Given the description of an element on the screen output the (x, y) to click on. 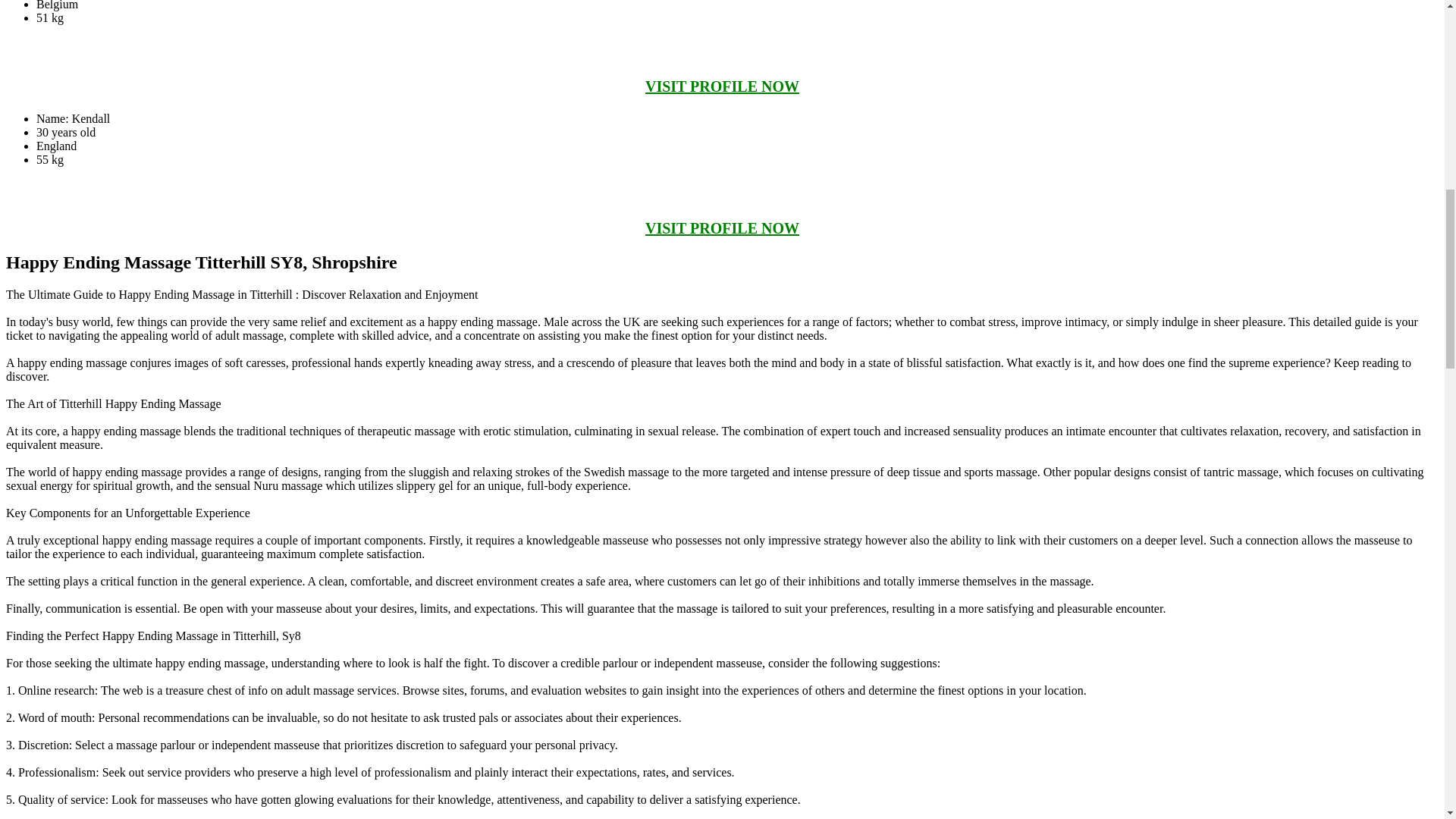
VISIT PROFILE NOW (722, 86)
VISIT PROFILE NOW (722, 228)
